Given the description of an element on the screen output the (x, y) to click on. 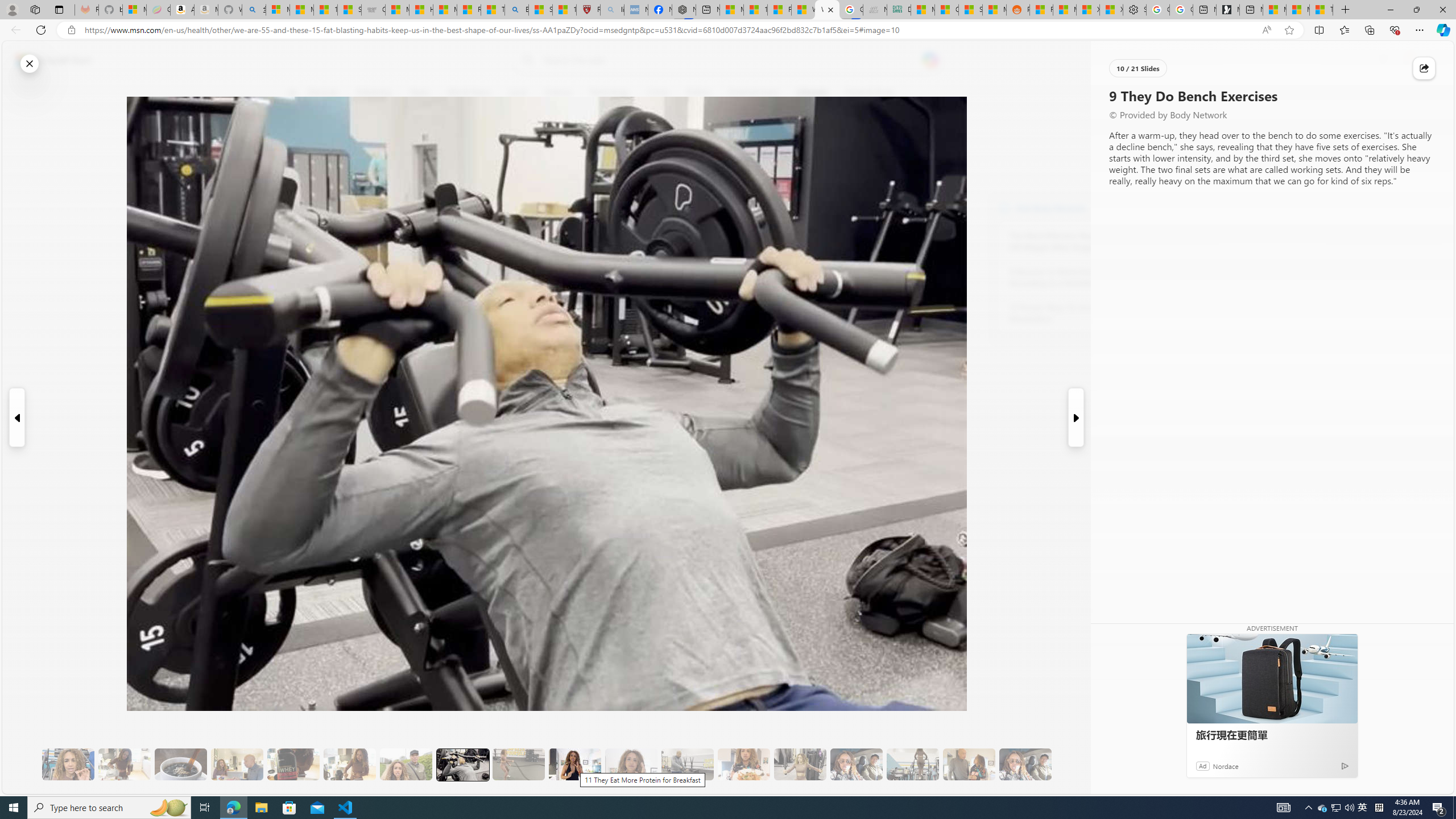
Recipes - MSN (469, 9)
2 They Use Protein Powder for Flavor (68, 764)
Previous Slide (16, 417)
8 Reasons to Drink Kombucha, According to a Nutritionist (1071, 277)
15 They Also Indulge in a Low-Calorie Sweet Treat (800, 764)
6 (299, 170)
